Given the description of an element on the screen output the (x, y) to click on. 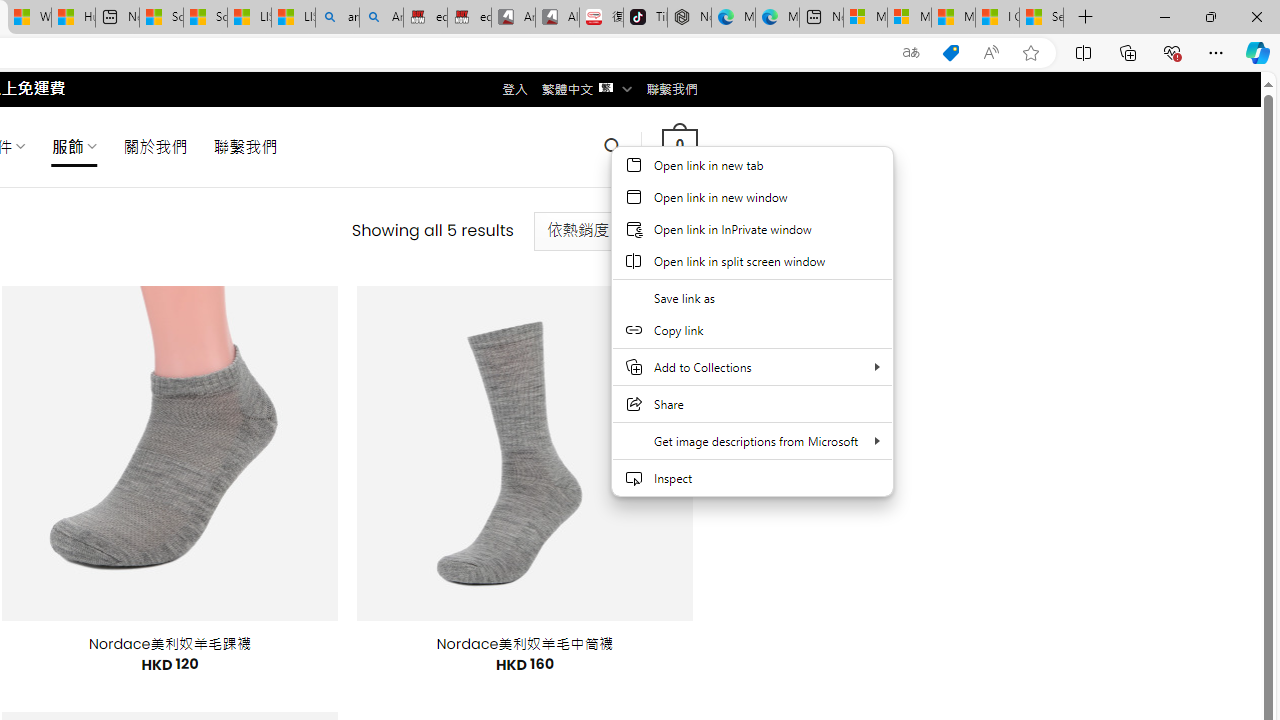
TikTok (644, 17)
Save link as (752, 297)
Amazon Echo Dot PNG - Search Images (381, 17)
Huge shark washes ashore at New York City beach | Watch (73, 17)
All Cubot phones (557, 17)
Open link in new tab (752, 164)
Add to Collections (752, 367)
